Given the description of an element on the screen output the (x, y) to click on. 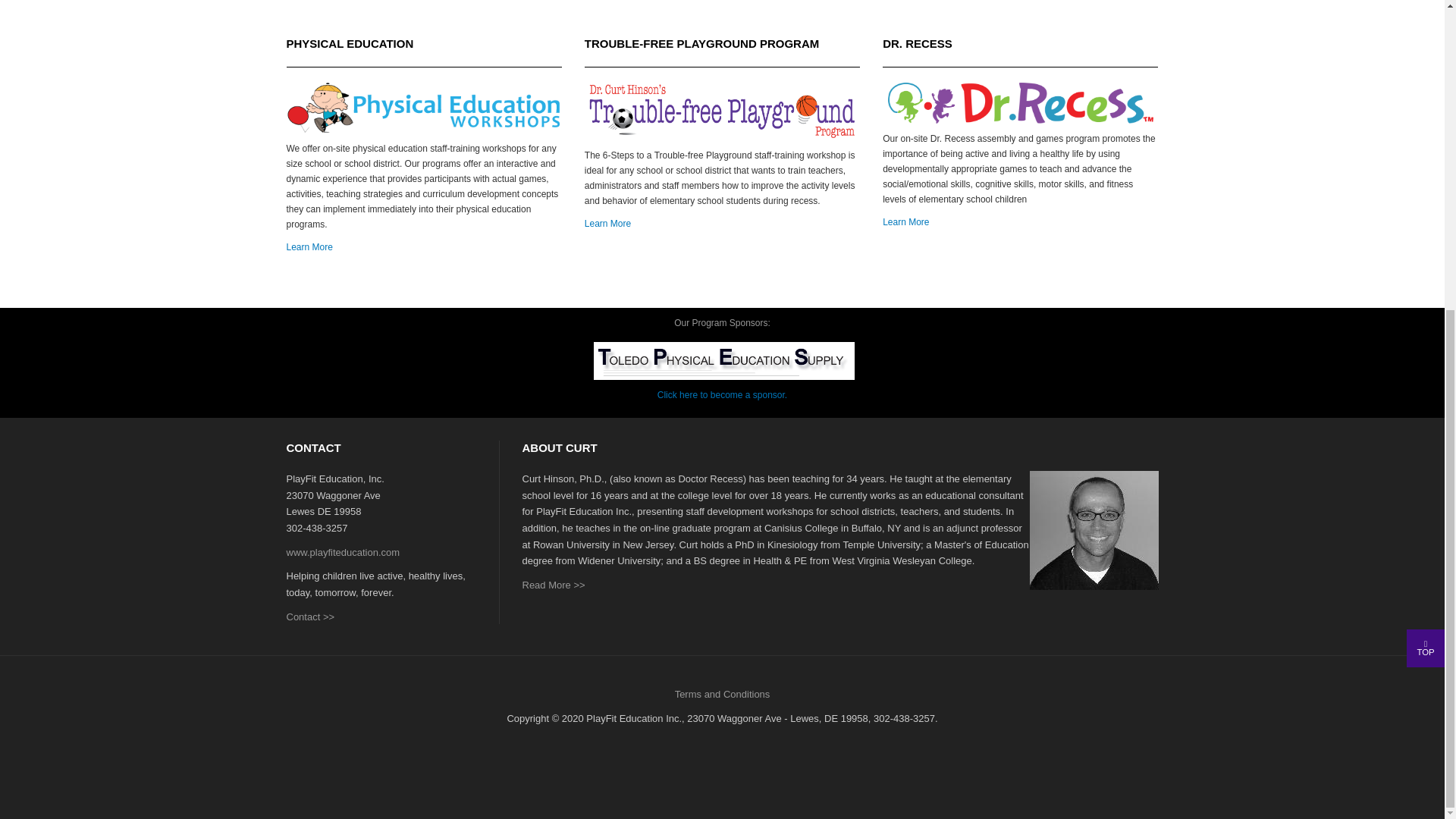
www.playfiteducation.com (343, 552)
Learn More (309, 246)
Learn More (607, 223)
Click here to become a sponsor. (722, 394)
Learn More (905, 222)
